Given the description of an element on the screen output the (x, y) to click on. 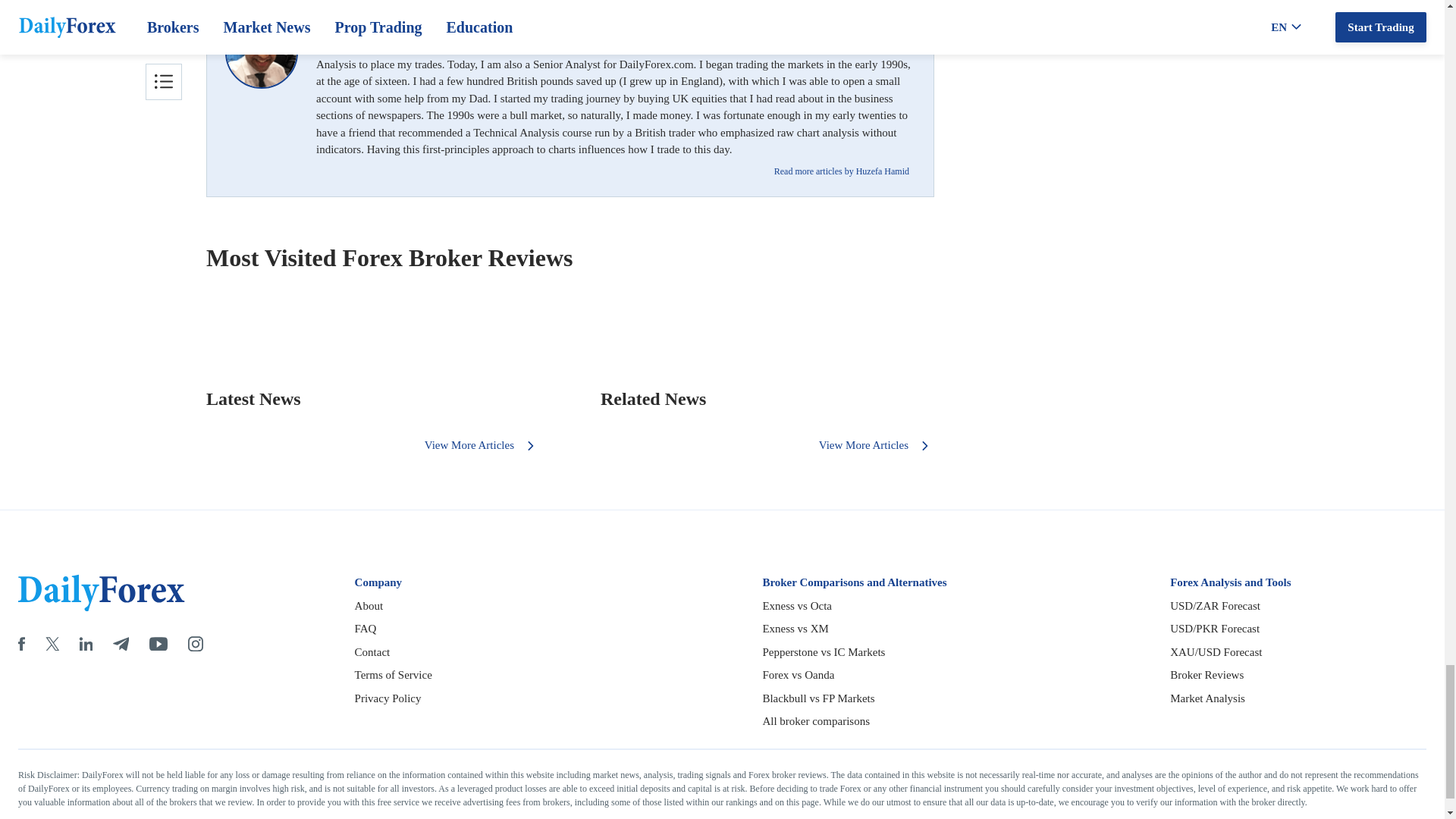
View More Articles (876, 444)
View More Articles (482, 444)
Huzefa Hamid (261, 51)
